Given the description of an element on the screen output the (x, y) to click on. 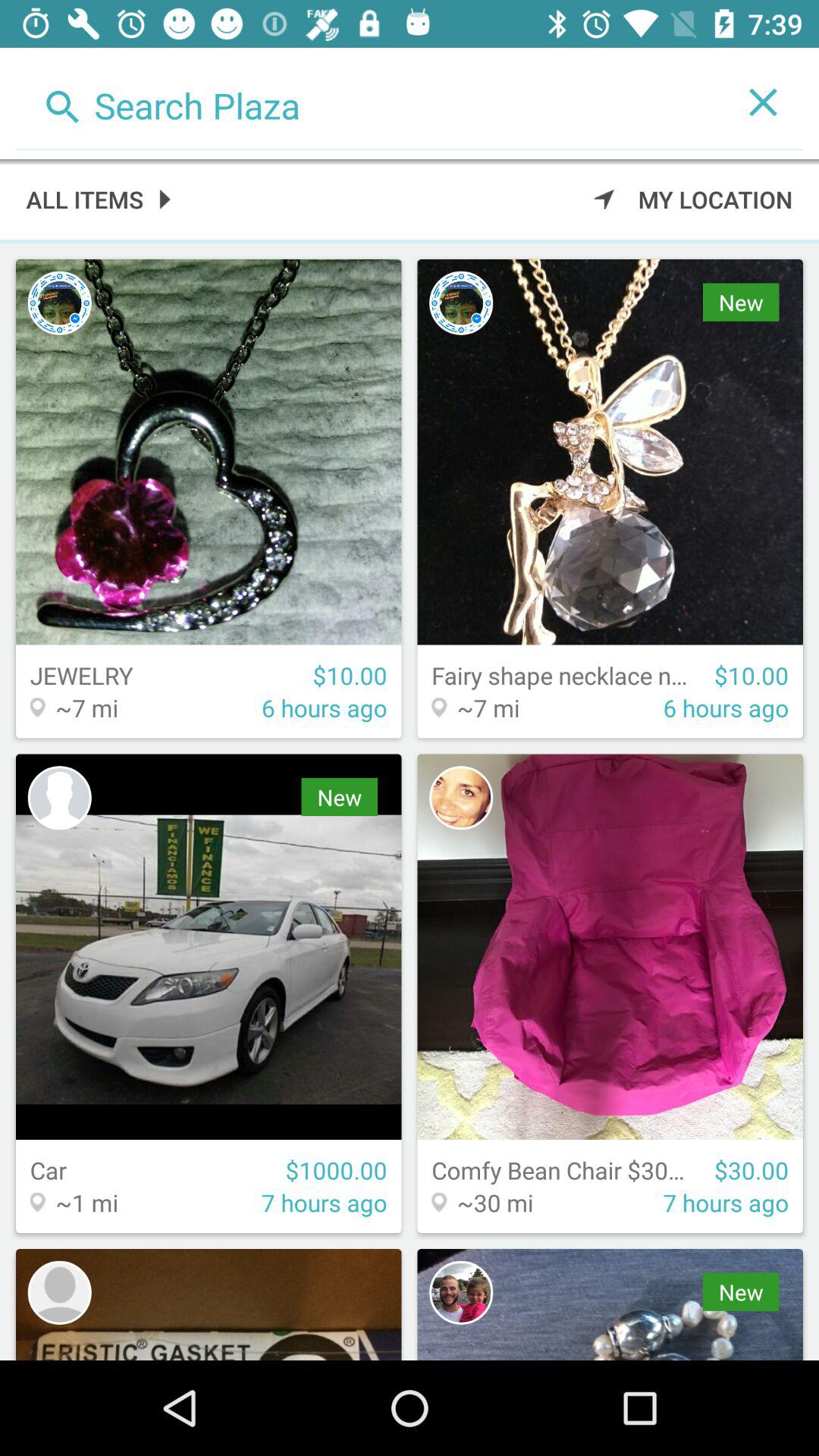
press the icon to the right of all items item (693, 199)
